Given the description of an element on the screen output the (x, y) to click on. 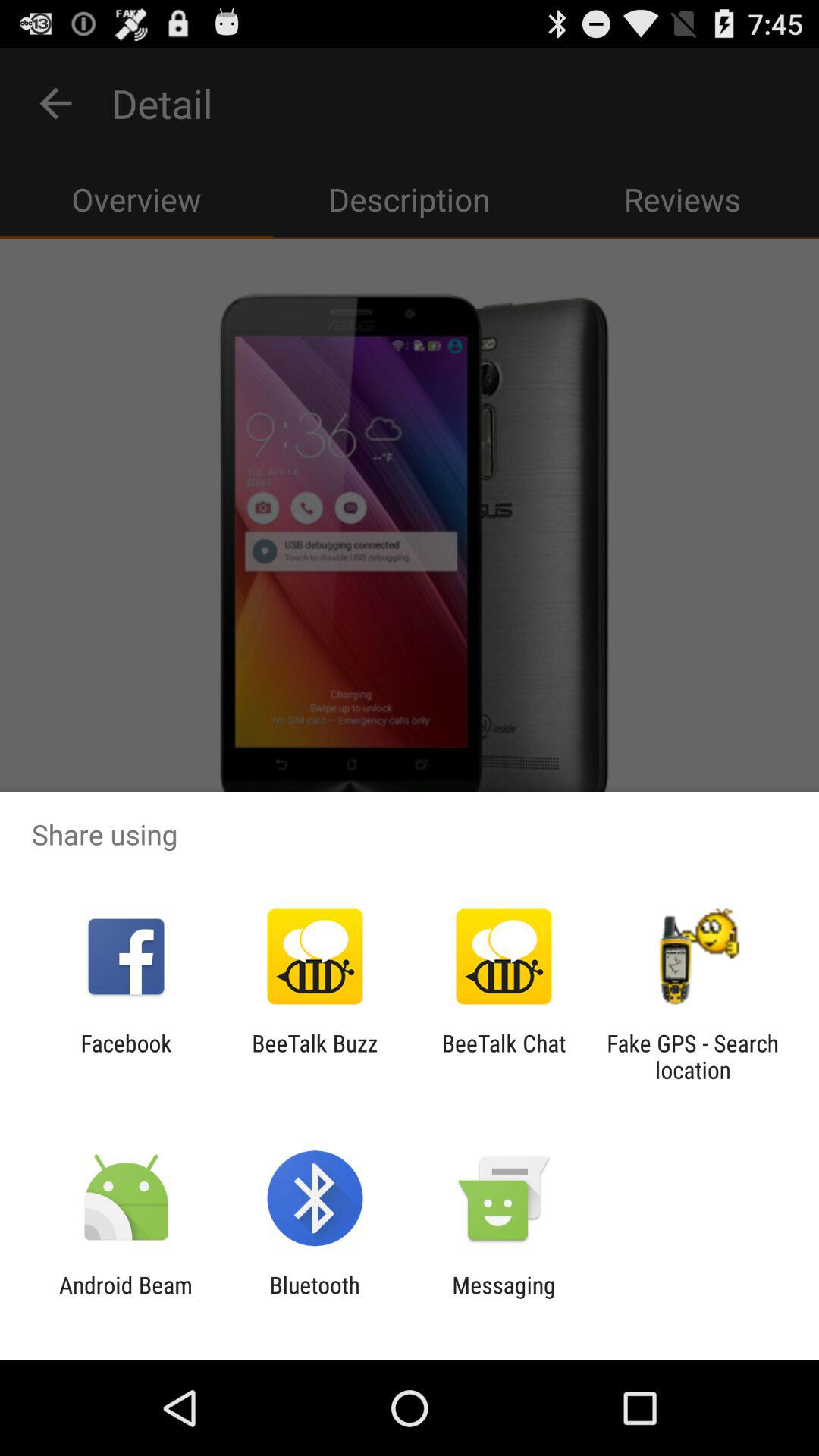
tap the beetalk chat app (503, 1056)
